Given the description of an element on the screen output the (x, y) to click on. 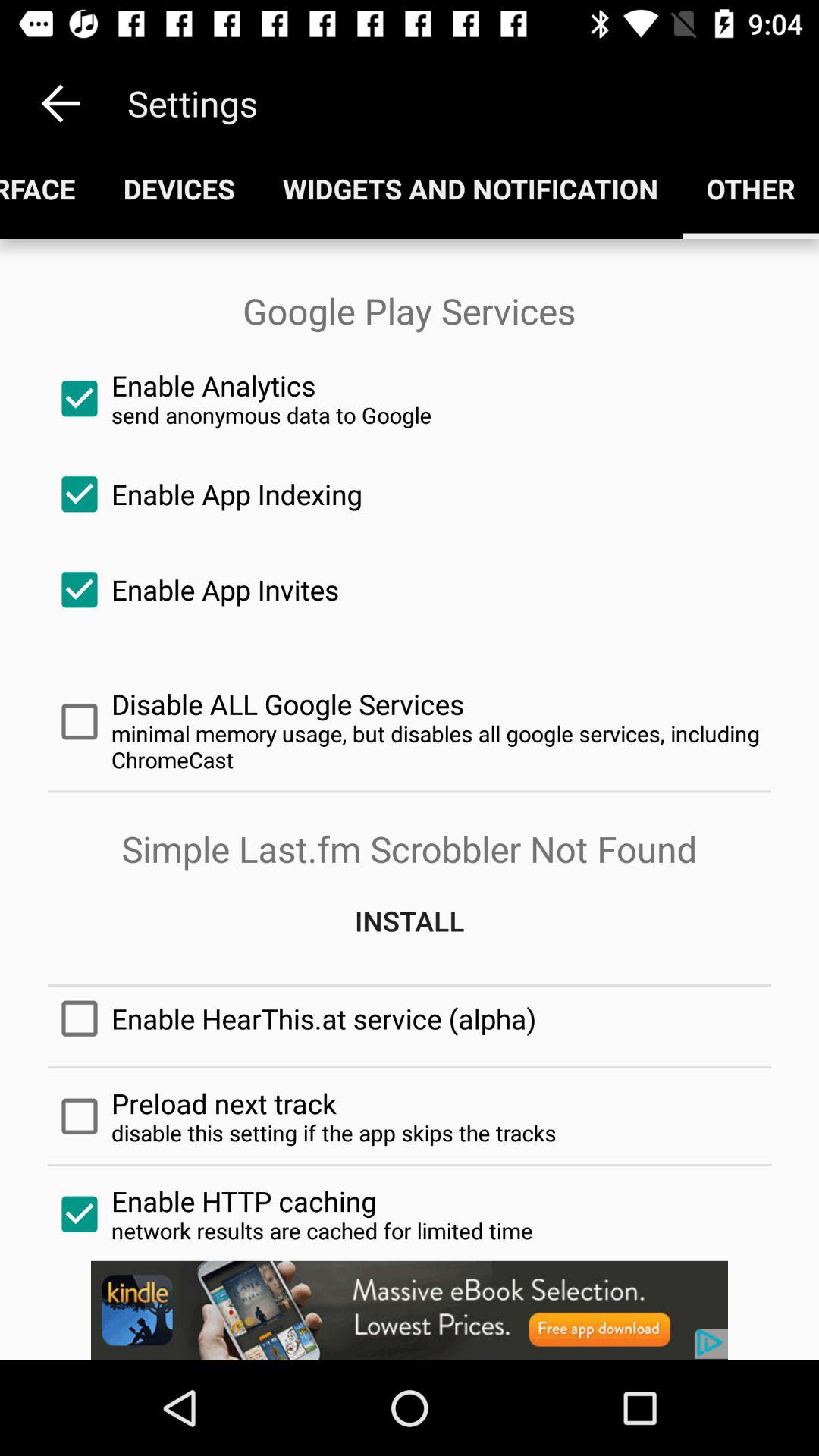
select click on enable http caching (409, 1214)
click on enable app invites text option (409, 589)
check the box of disable all google services (409, 721)
select the text which is right to widgets and notification (750, 188)
select2 lines text which is above enable http caching on the page (409, 1116)
